Given the description of an element on the screen output the (x, y) to click on. 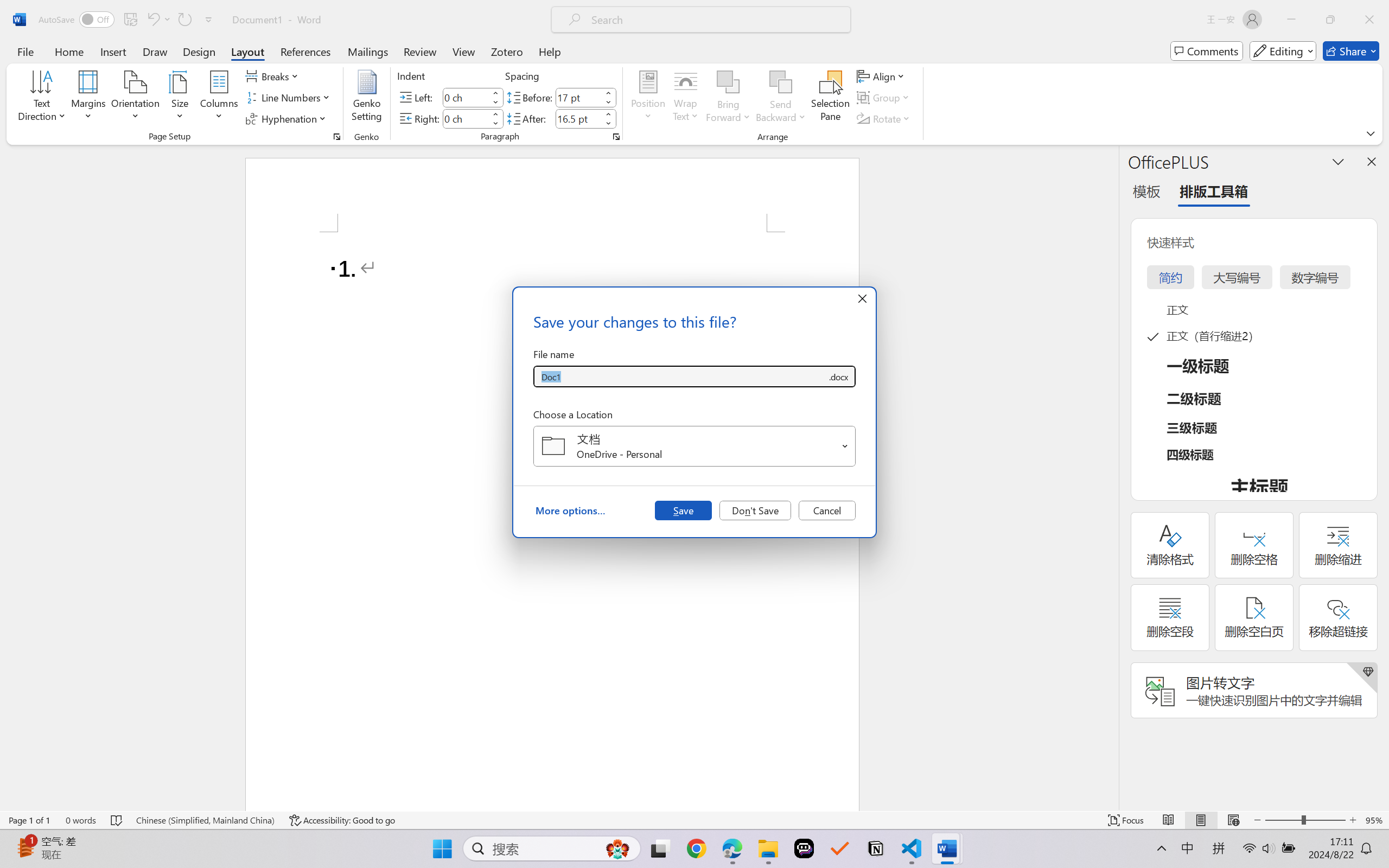
Text Direction (42, 97)
More (608, 113)
Indent Right (465, 118)
